Given the description of an element on the screen output the (x, y) to click on. 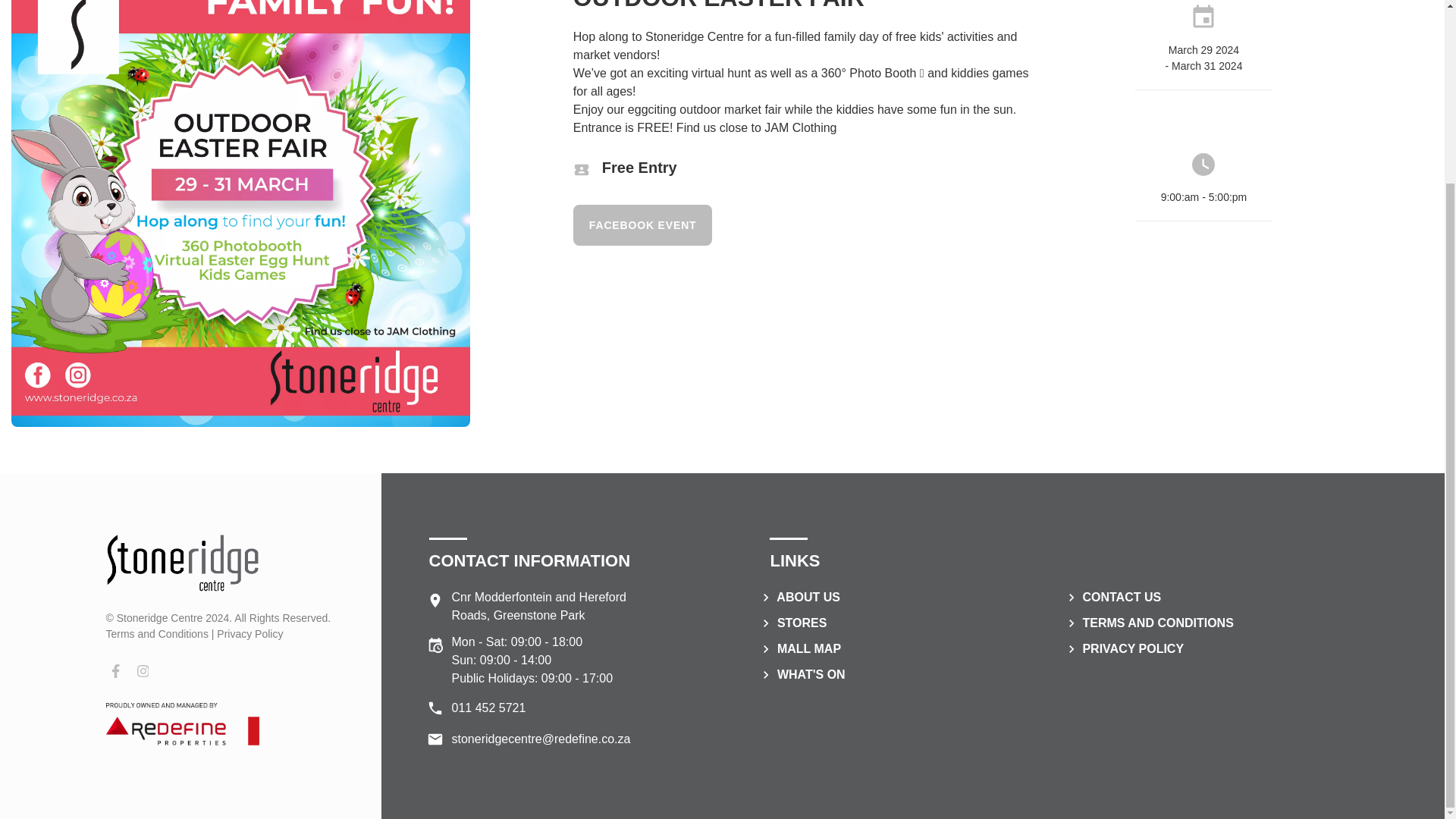
WHAT'S ON (801, 674)
PRIVACY POLICY (1123, 648)
CONTACT US (1112, 596)
Terms and Conditions (157, 633)
011 452 5721 (530, 707)
STORES (792, 622)
TERMS AND CONDITIONS (1148, 622)
Privacy Policy (249, 633)
ABOUT US (799, 596)
MALL MAP (799, 648)
FACEBOOK EVENT (643, 224)
